Given the description of an element on the screen output the (x, y) to click on. 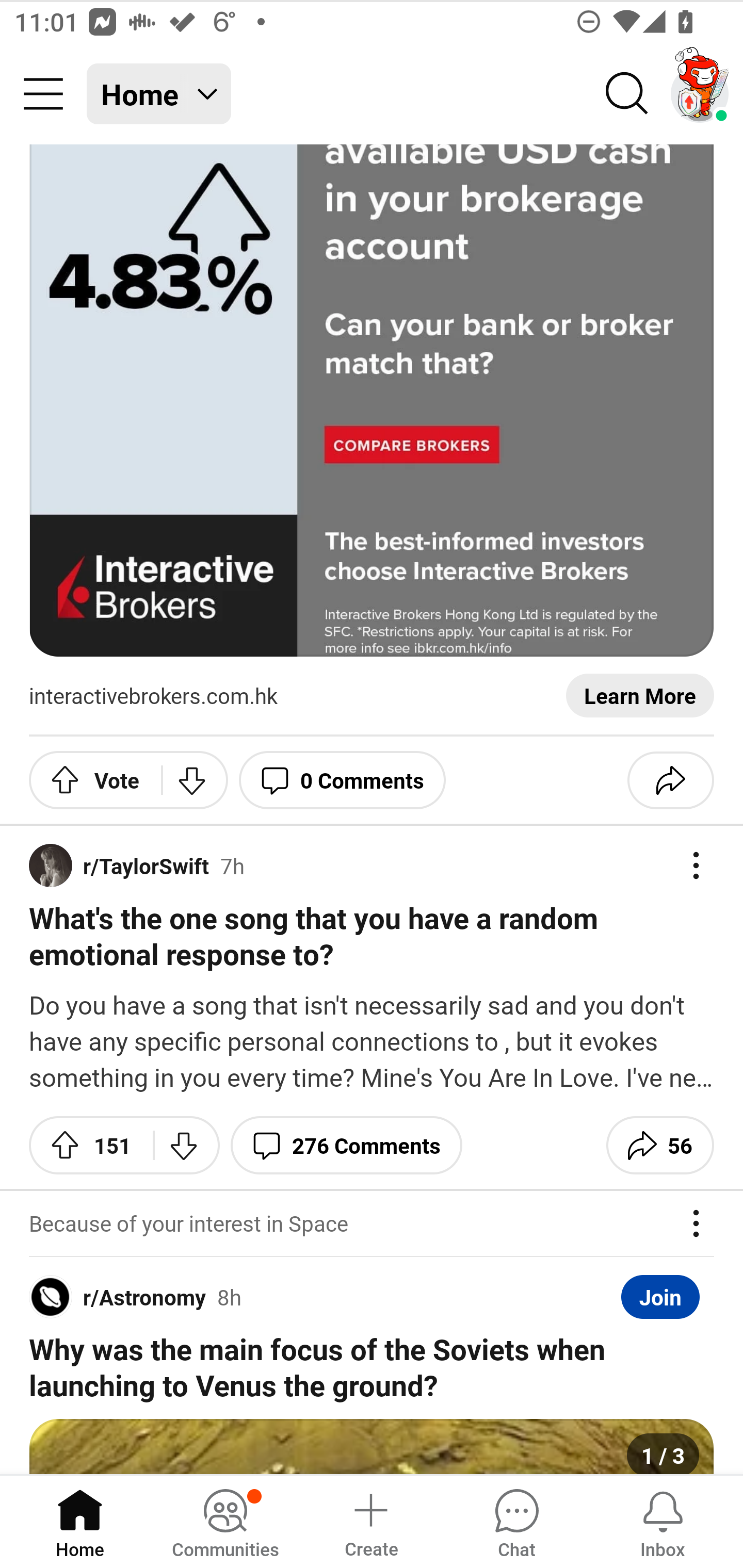
Community menu (43, 93)
Home Home feed (158, 93)
Search (626, 93)
TestAppium002 account (699, 93)
Home (80, 1520)
Communities, has notifications Communities (225, 1520)
Create a post Create (370, 1520)
Chat (516, 1520)
Inbox (662, 1520)
